Given the description of an element on the screen output the (x, y) to click on. 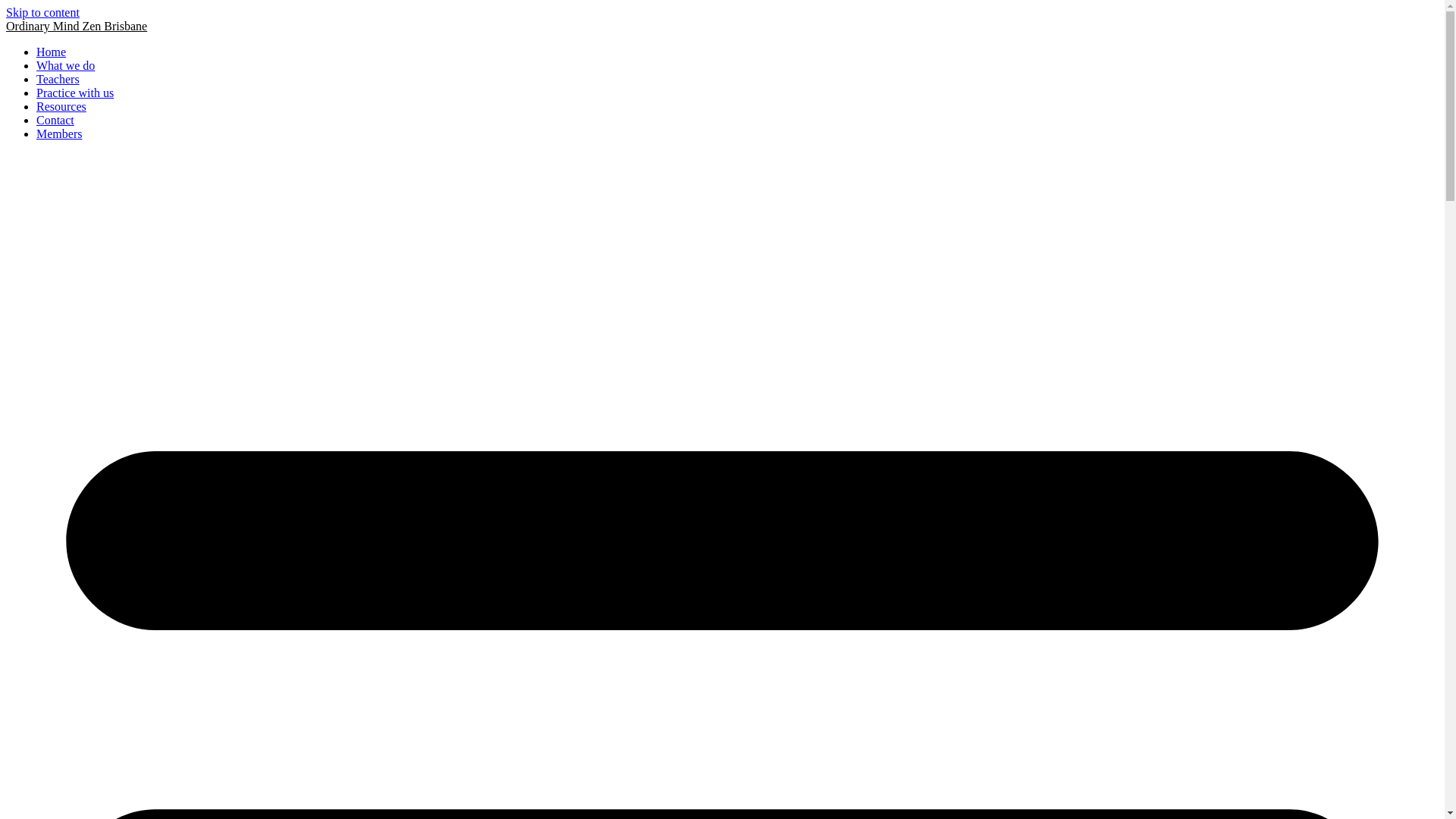
Practice with us Element type: text (74, 92)
Skip to content Element type: text (42, 12)
Home Element type: text (50, 51)
Resources Element type: text (61, 106)
Teachers Element type: text (57, 78)
What we do Element type: text (65, 65)
Ordinary Mind Zen Brisbane Element type: text (76, 25)
Contact Element type: text (55, 119)
Members Element type: text (58, 133)
